Given the description of an element on the screen output the (x, y) to click on. 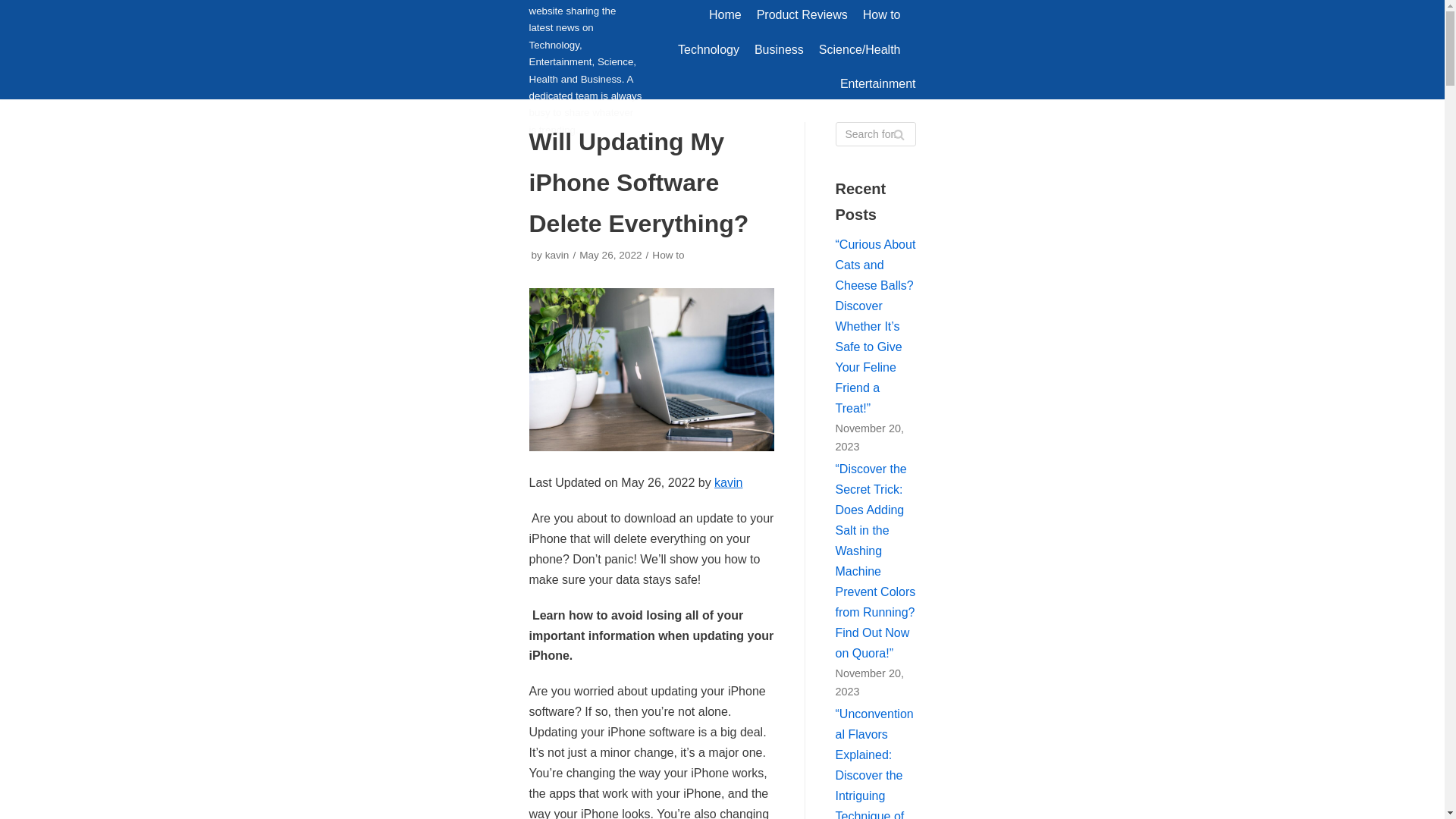
Technology (708, 49)
Skip to content (15, 7)
Product Reviews (802, 14)
kavin (728, 481)
Home (725, 14)
kavin (556, 255)
Entertainment (877, 84)
Posts by kavin (556, 255)
Business (778, 49)
How to (882, 14)
How to (668, 255)
